Given the description of an element on the screen output the (x, y) to click on. 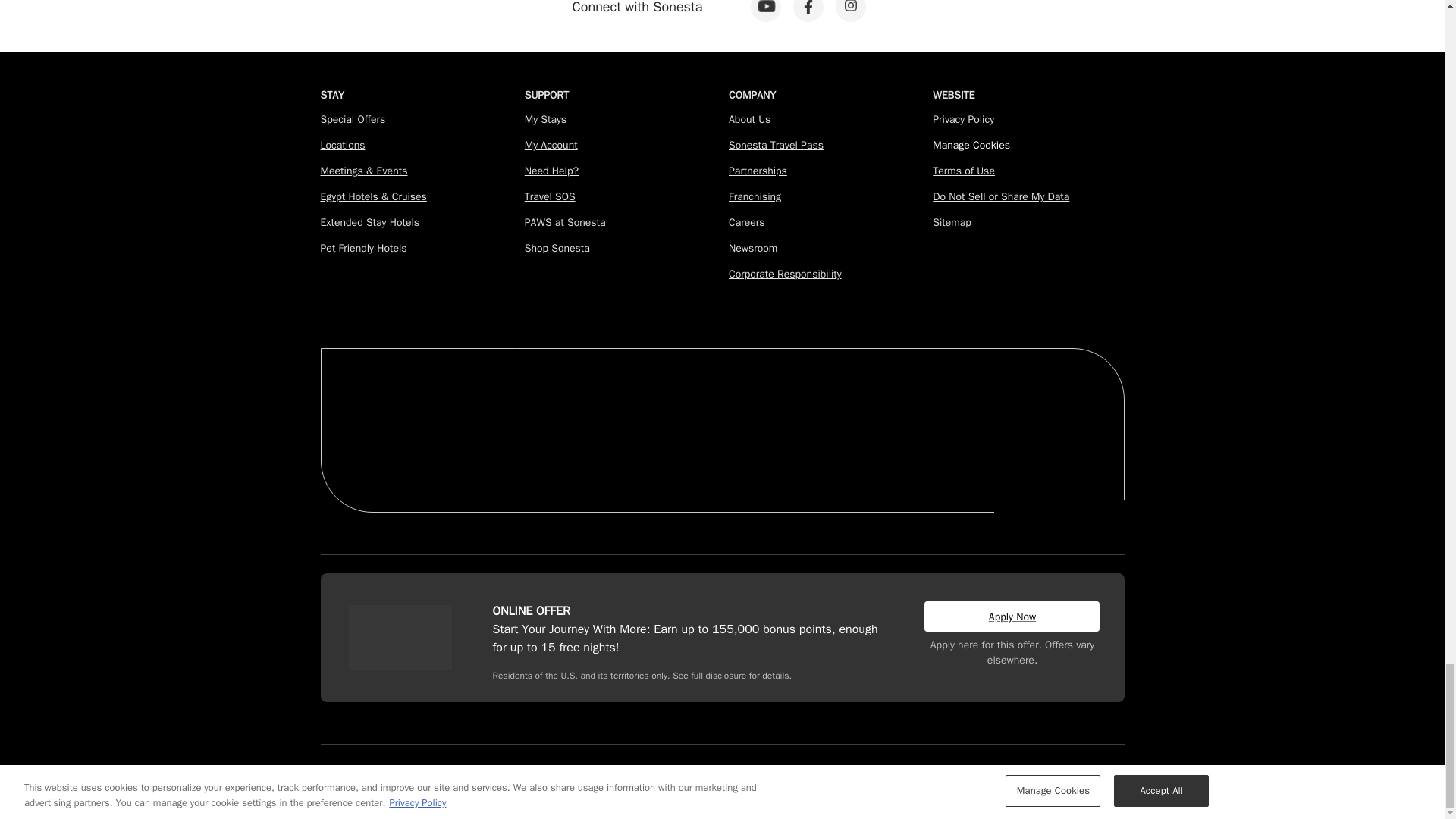
The Royal Sonesta (390, 403)
Sonesta Hotels Resorts (749, 402)
Red Lion Hotels (1052, 400)
Classico Sonesta Collection (619, 402)
The James Hotels (498, 407)
Mod Sonesta Collection (856, 402)
Sonesta Es Suites (398, 453)
Sonesta Select (946, 396)
